Given the description of an element on the screen output the (x, y) to click on. 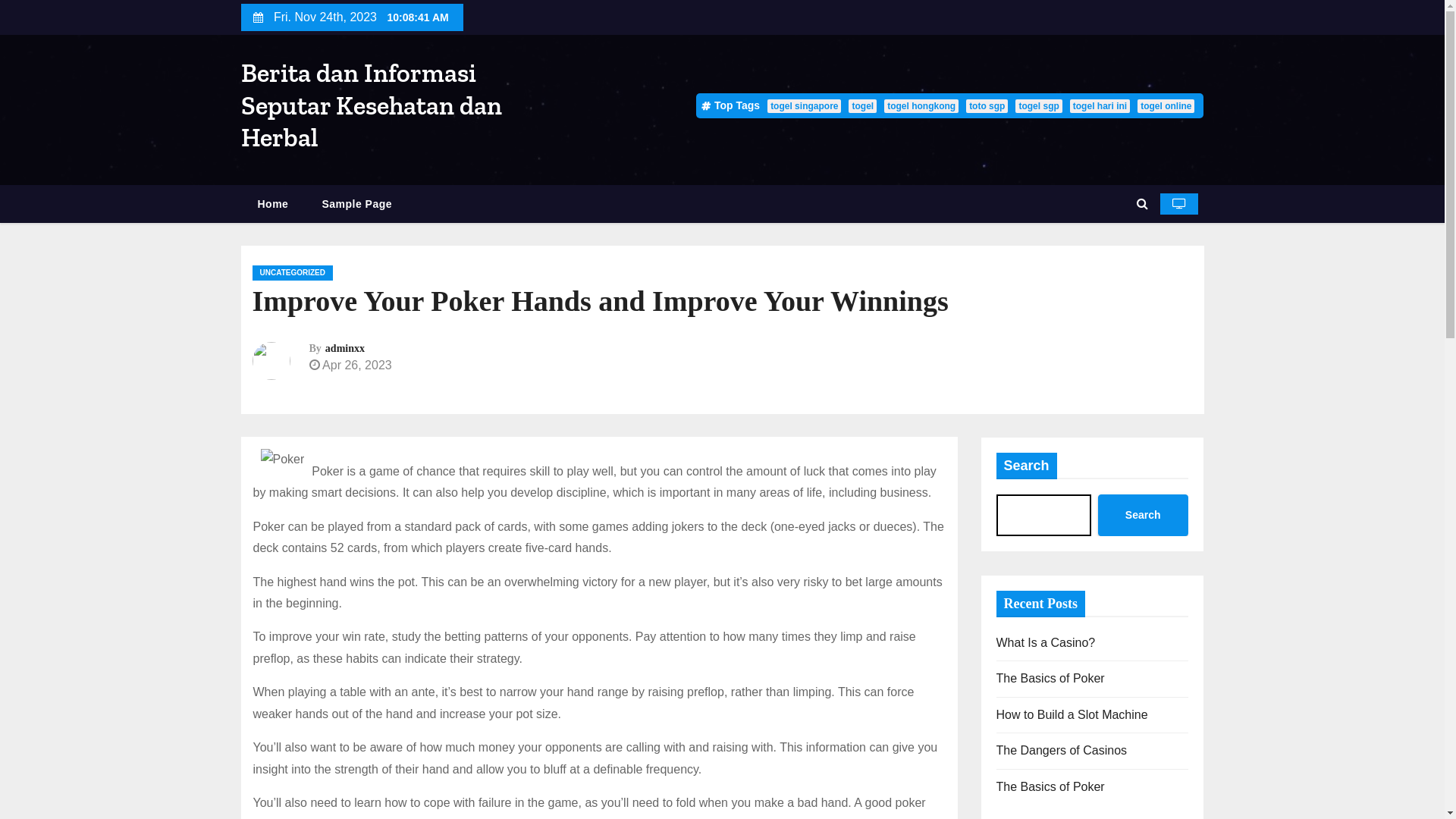
toto sgp Element type: text (986, 105)
togel hari ini Element type: text (1099, 105)
Search Element type: text (1143, 515)
The Basics of Poker Element type: text (1050, 786)
togel singapore Element type: text (803, 105)
togel sgp Element type: text (1038, 105)
togel hongkong Element type: text (921, 105)
The Basics of Poker Element type: text (1050, 677)
Sample Page Element type: text (356, 204)
What Is a Casino? Element type: text (1045, 642)
The Dangers of Casinos Element type: text (1061, 749)
Berita dan Informasi Seputar Kesehatan dan Herbal Element type: text (371, 105)
togel Element type: text (862, 105)
Home Element type: text (273, 204)
How to Build a Slot Machine Element type: text (1072, 714)
togel online Element type: text (1165, 105)
adminxx Element type: text (344, 348)
UNCATEGORIZED Element type: text (291, 272)
